Given the description of an element on the screen output the (x, y) to click on. 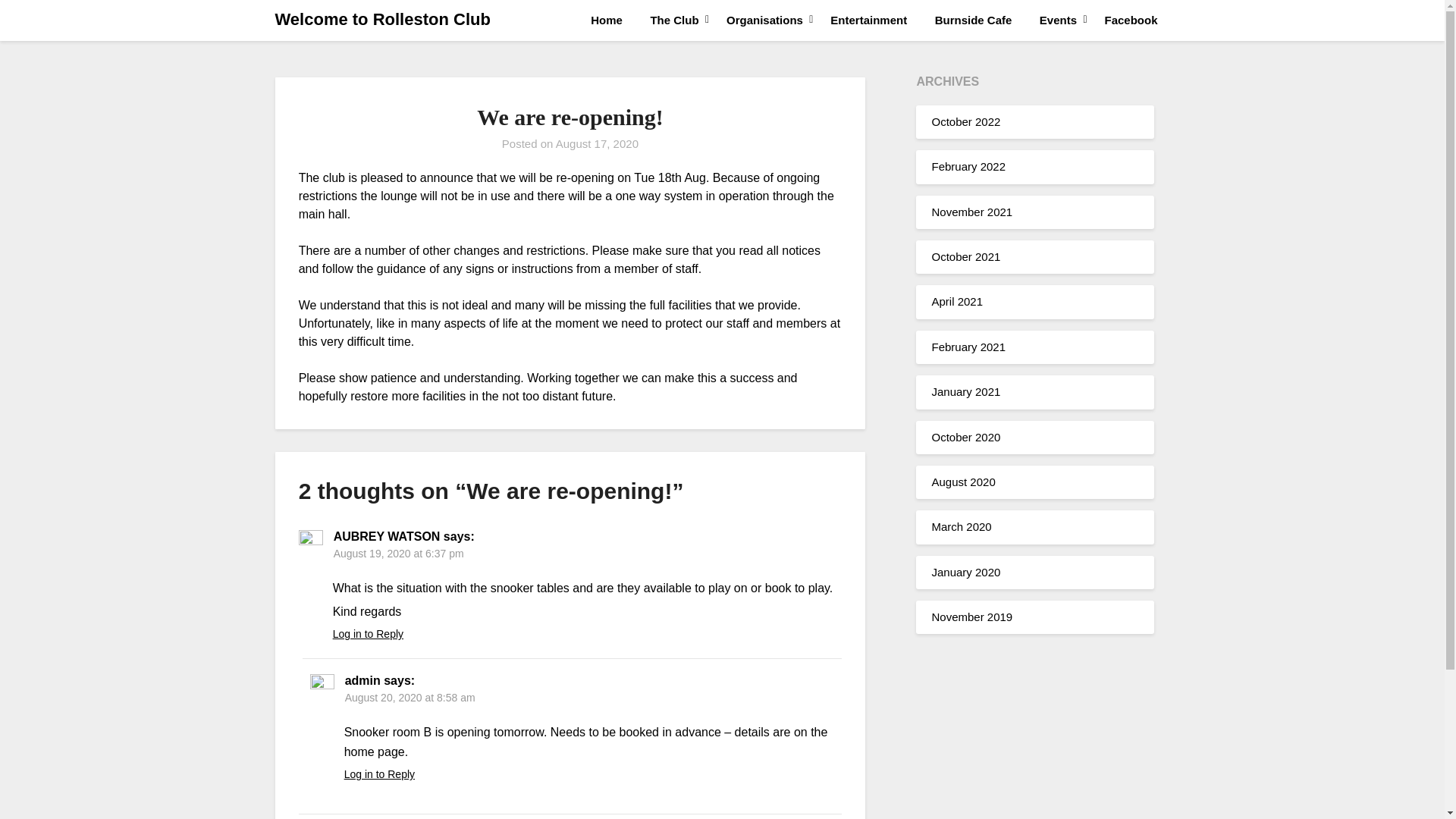
March 2020 (961, 526)
Organisations (764, 20)
August 20, 2020 at 8:58 am (410, 697)
January 2021 (965, 391)
February 2021 (968, 346)
Entertainment (868, 20)
Welcome to Rolleston Club (382, 19)
Home (612, 20)
January 2020 (965, 571)
August 19, 2020 at 6:37 pm (398, 553)
November 2021 (971, 211)
October 2021 (965, 256)
October 2022 (965, 121)
August 17, 2020 (597, 143)
Events (1058, 20)
